Given the description of an element on the screen output the (x, y) to click on. 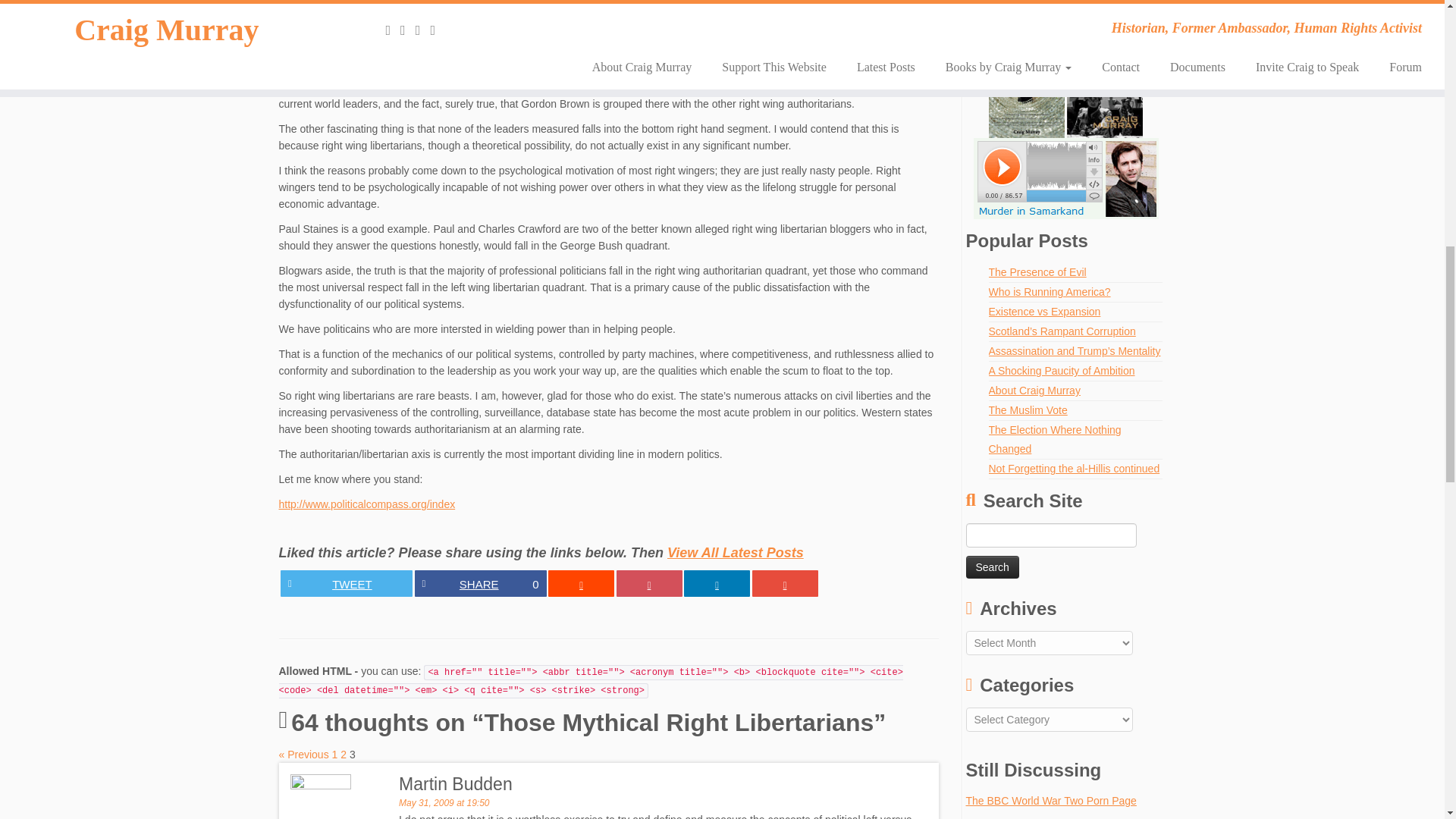
Tweet on Twitter (346, 583)
View All Latest Posts (734, 552)
Share on Facebook (479, 583)
Search (992, 567)
Submit to Reddit (581, 583)
May 31, 2009 at 19:50 (443, 802)
TWEET (346, 583)
Save to read later on Pocket (648, 583)
